Given the description of an element on the screen output the (x, y) to click on. 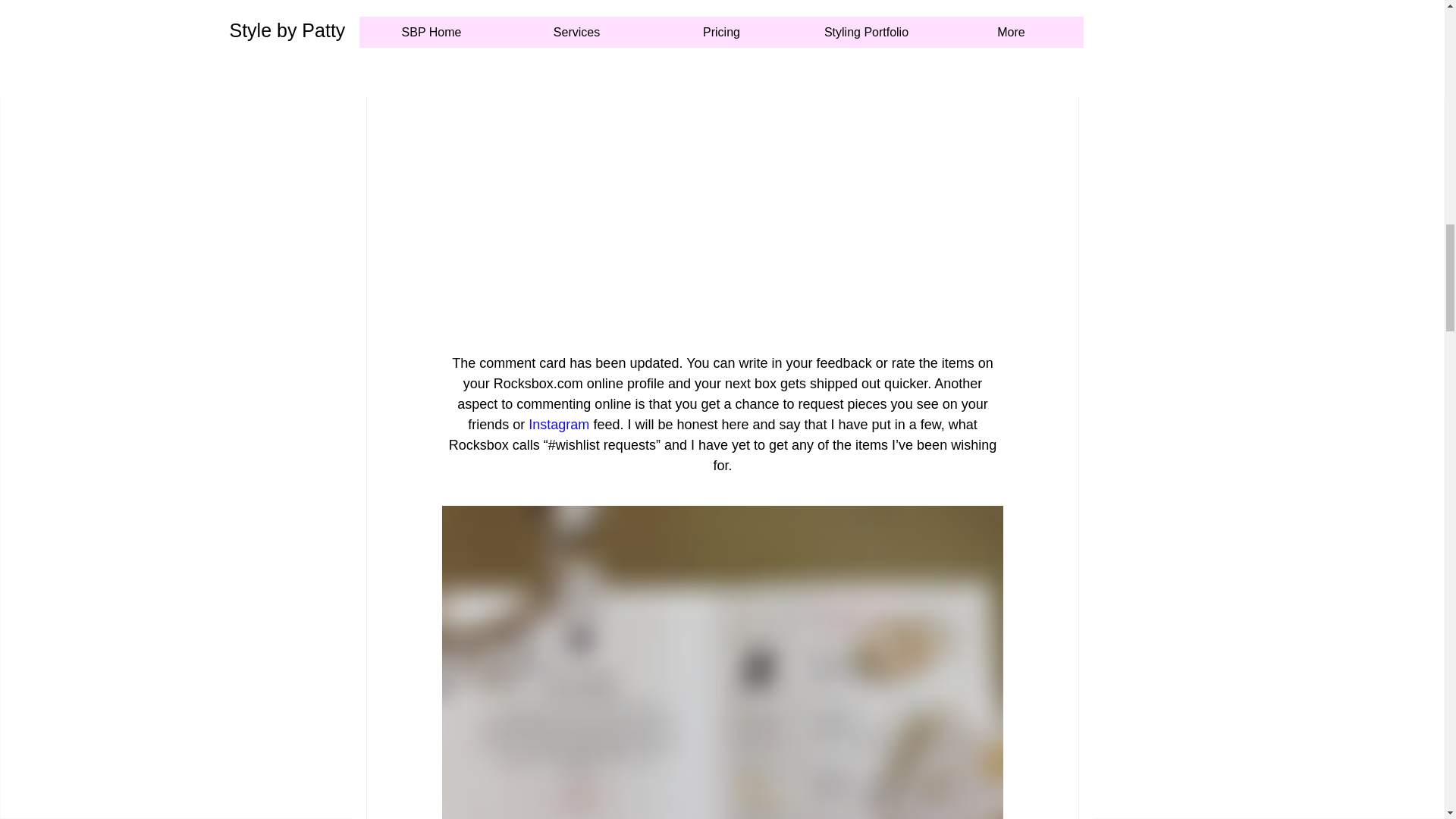
Instagram (558, 424)
